Given the description of an element on the screen output the (x, y) to click on. 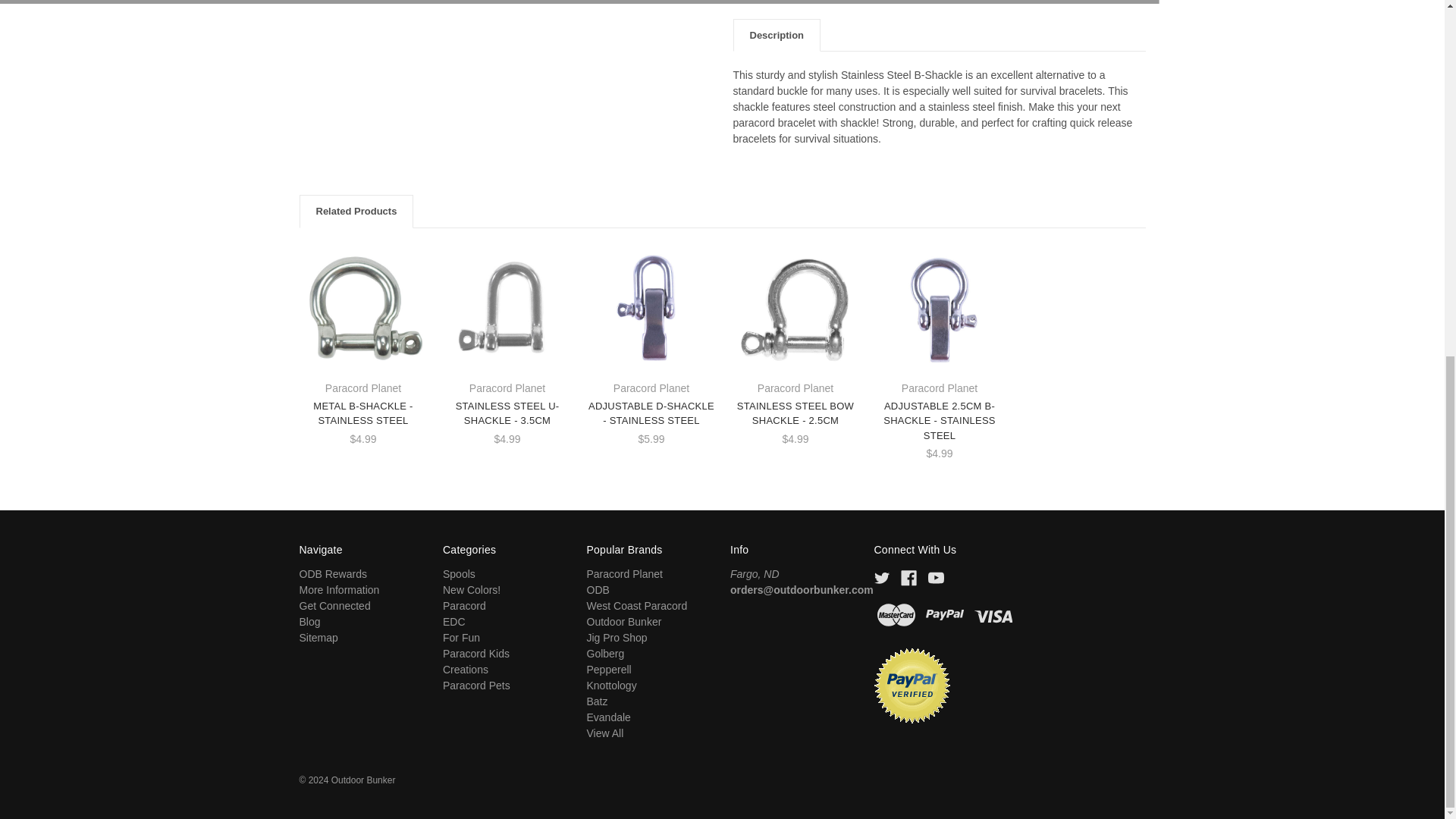
Metal B-Shackle (362, 308)
Stainless Steel U-Shackle - 3.5cm (506, 308)
Adjustable 2.5cm B-Shackle - Stainless Steel (939, 308)
Adjustable D-Shackle - Stainless Steel (650, 308)
Stainless Steel Bow Shackle - 2.5cm (794, 308)
